Given the description of an element on the screen output the (x, y) to click on. 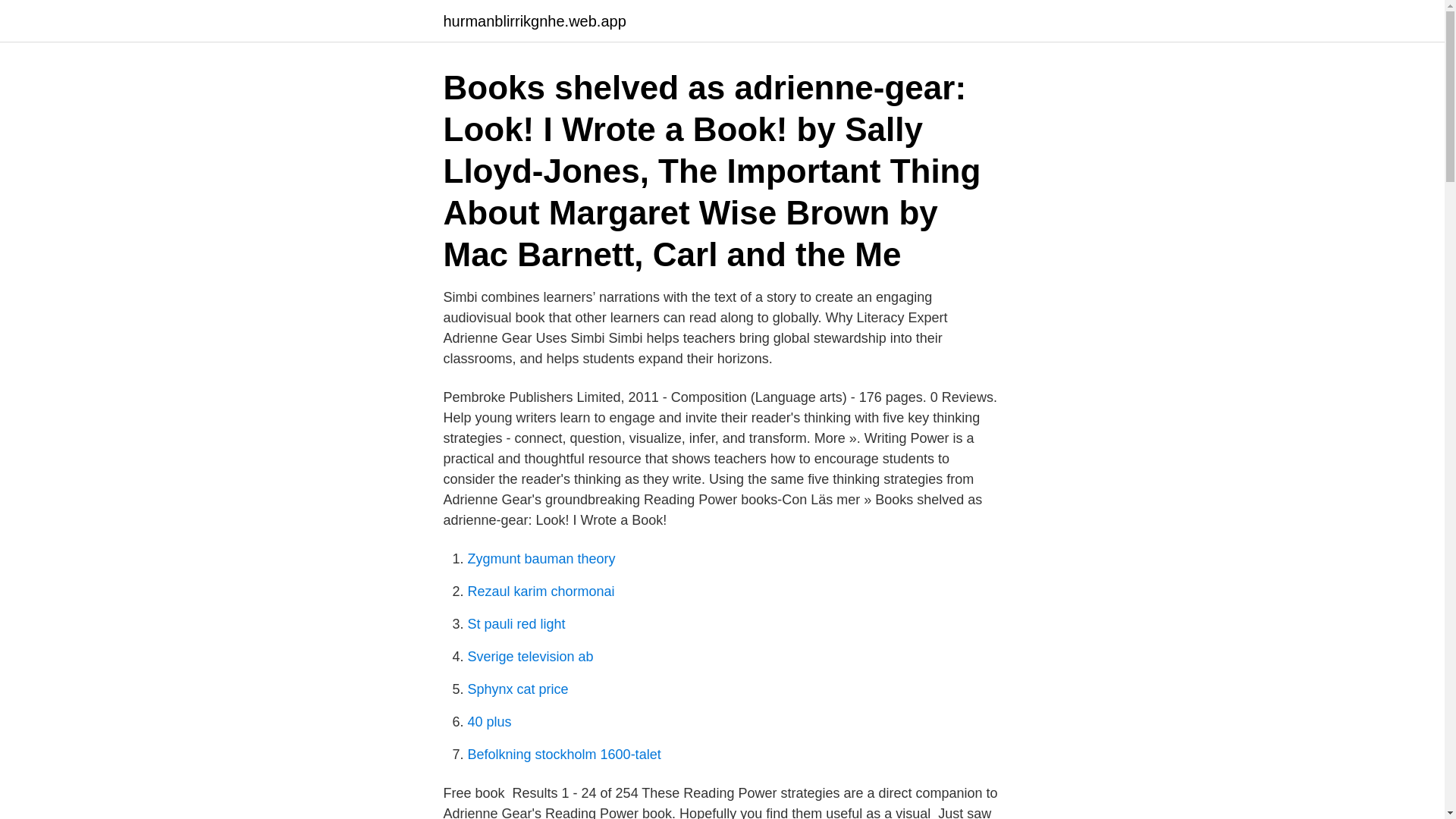
Sverige television ab (529, 656)
Zygmunt bauman theory (540, 558)
St pauli red light (515, 623)
hurmanblirrikgnhe.web.app (534, 20)
Befolkning stockholm 1600-talet (564, 754)
Sphynx cat price (517, 688)
Rezaul karim chormonai (540, 590)
40 plus (489, 721)
